Given the description of an element on the screen output the (x, y) to click on. 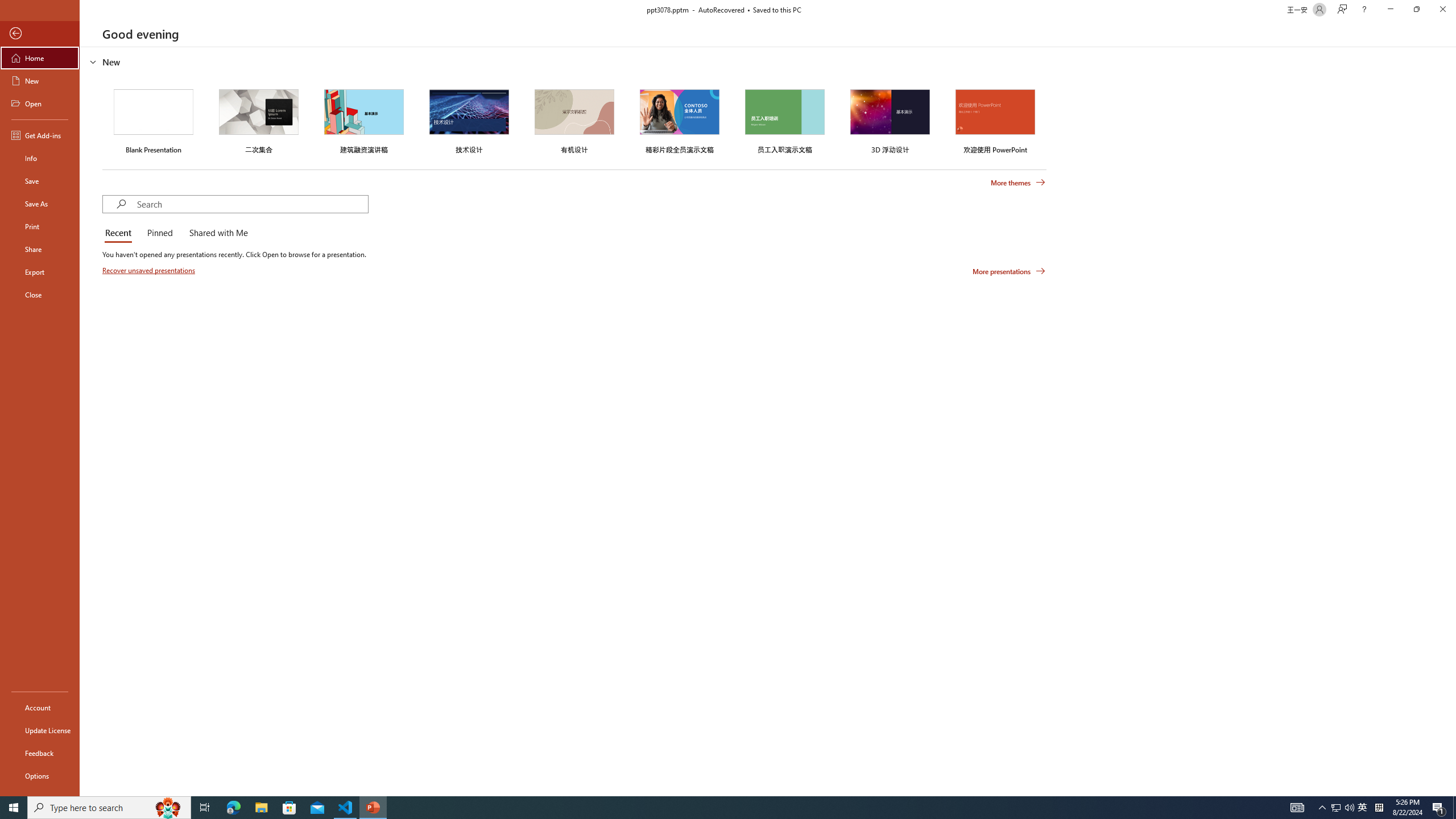
copilot-notconnected, Copilot error (click for details) (1001, 766)
Customize Layout... (1043, 150)
Search (Ctrl+Shift+F) (76, 265)
Class: actions-container (1021, 183)
Outline Section (188, 725)
Manage (76, 734)
wangyian_dsw - DSW (23, 183)
Class: menubar compact overflow-menu-only (76, 183)
